Given the description of an element on the screen output the (x, y) to click on. 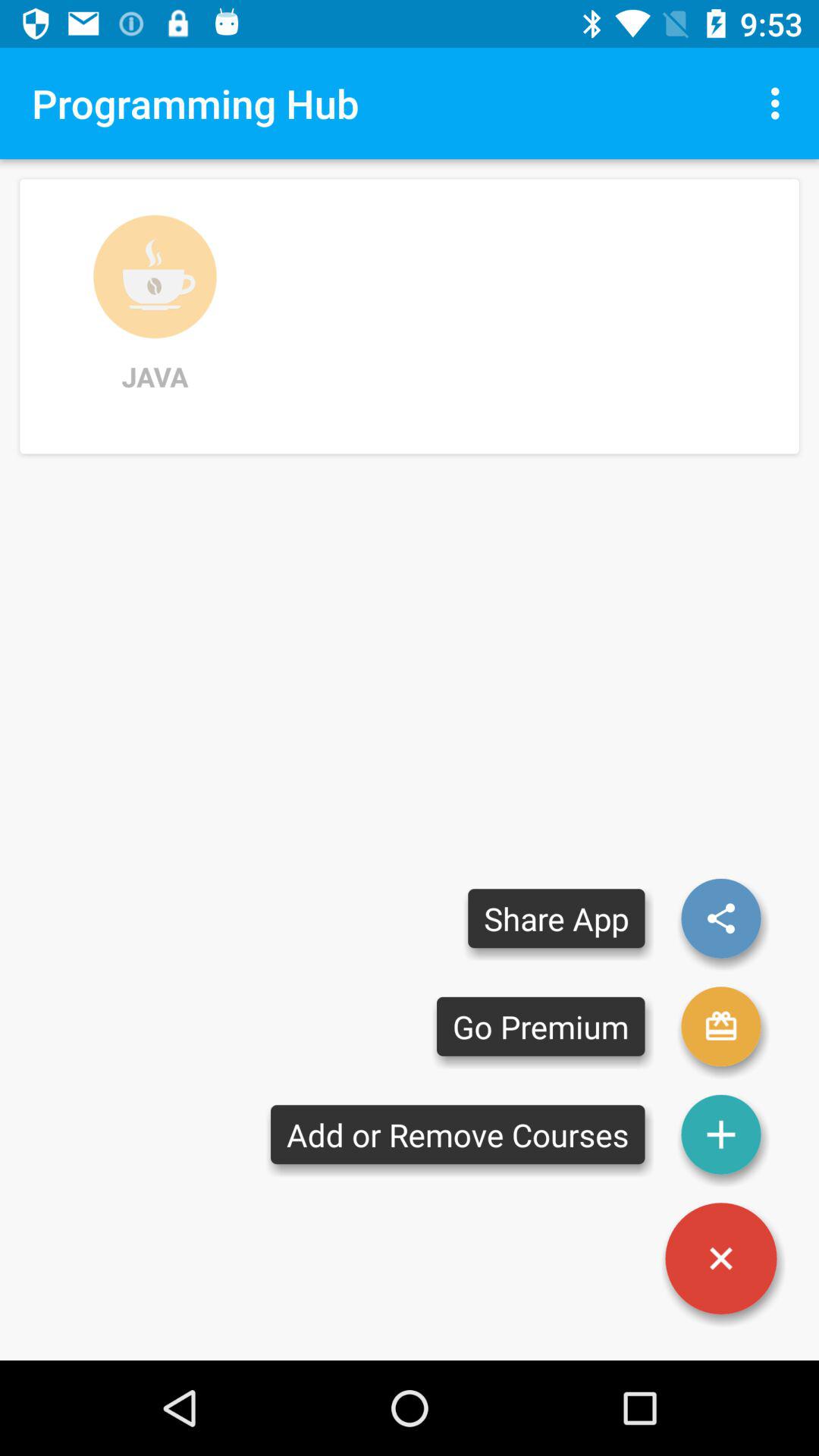
click item at the top right corner (779, 103)
